Given the description of an element on the screen output the (x, y) to click on. 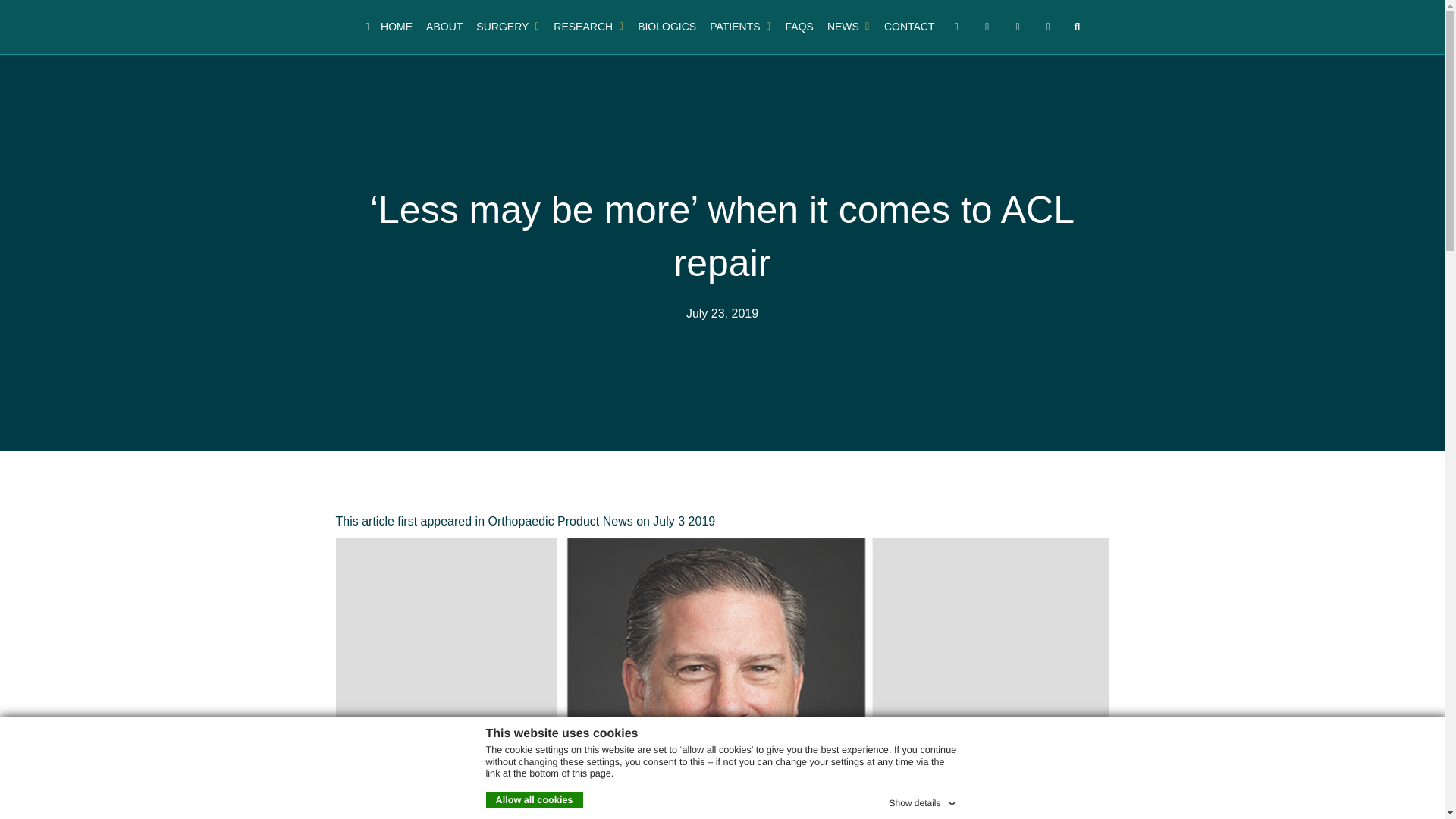
Allow all cookies (533, 800)
Show details (923, 800)
